Given the description of an element on the screen output the (x, y) to click on. 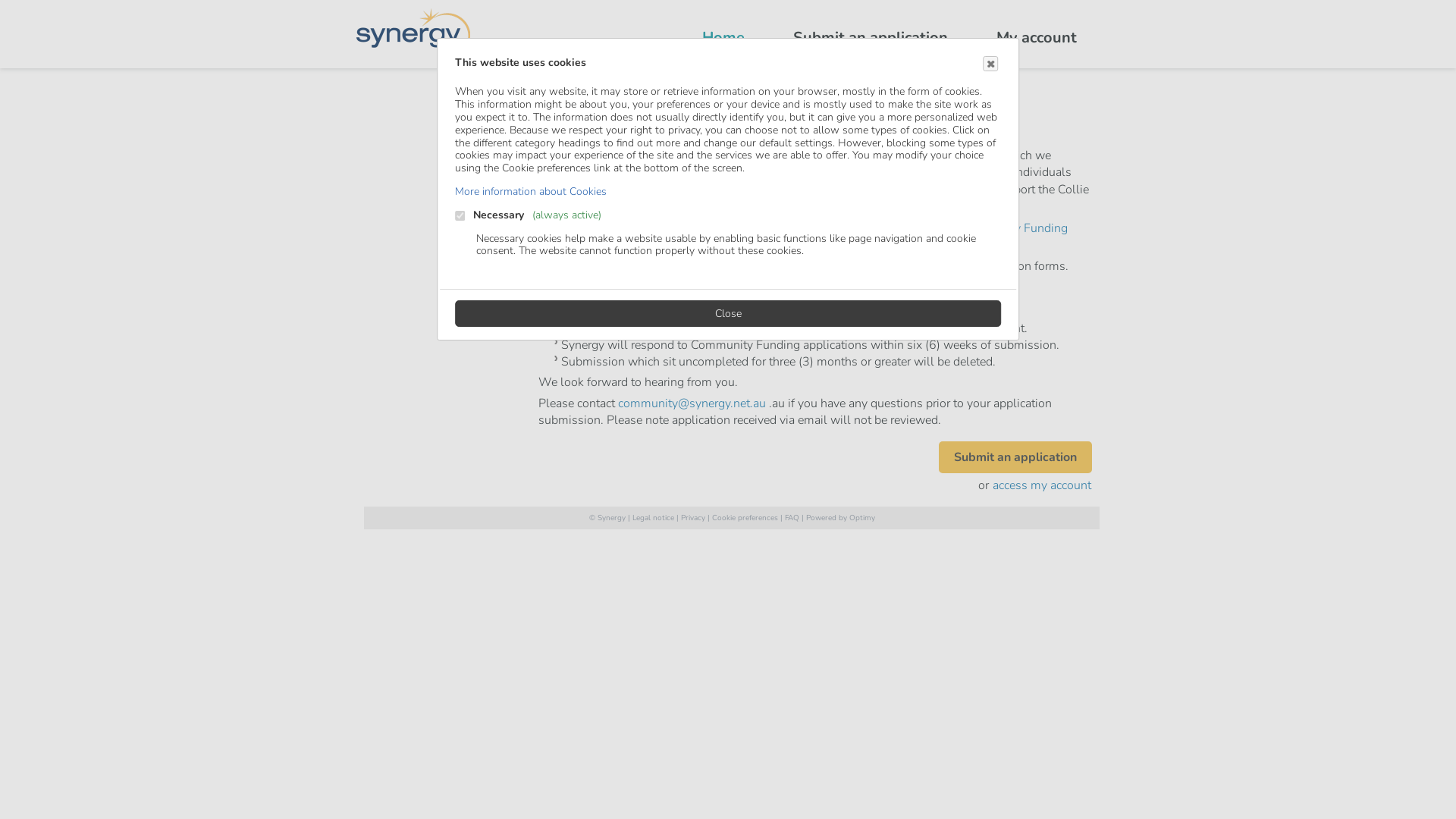
Submit an application Element type: text (1015, 457)
Community Funding guidelines Element type: text (802, 236)
Optimy Element type: text (862, 517)
My account Element type: text (1036, 37)
access my account Element type: text (1041, 485)
Close Element type: text (989, 63)
More information about Cookies Element type: text (530, 191)
Home Element type: text (723, 37)
Privacy Element type: text (692, 517)
Close Element type: text (728, 313)
community@synergy.net.au Element type: text (691, 403)
Cookie preferences Element type: text (744, 517)
Legal notice Element type: text (653, 517)
Submit an application Element type: text (870, 37)
FAQ Element type: text (791, 517)
